Given the description of an element on the screen output the (x, y) to click on. 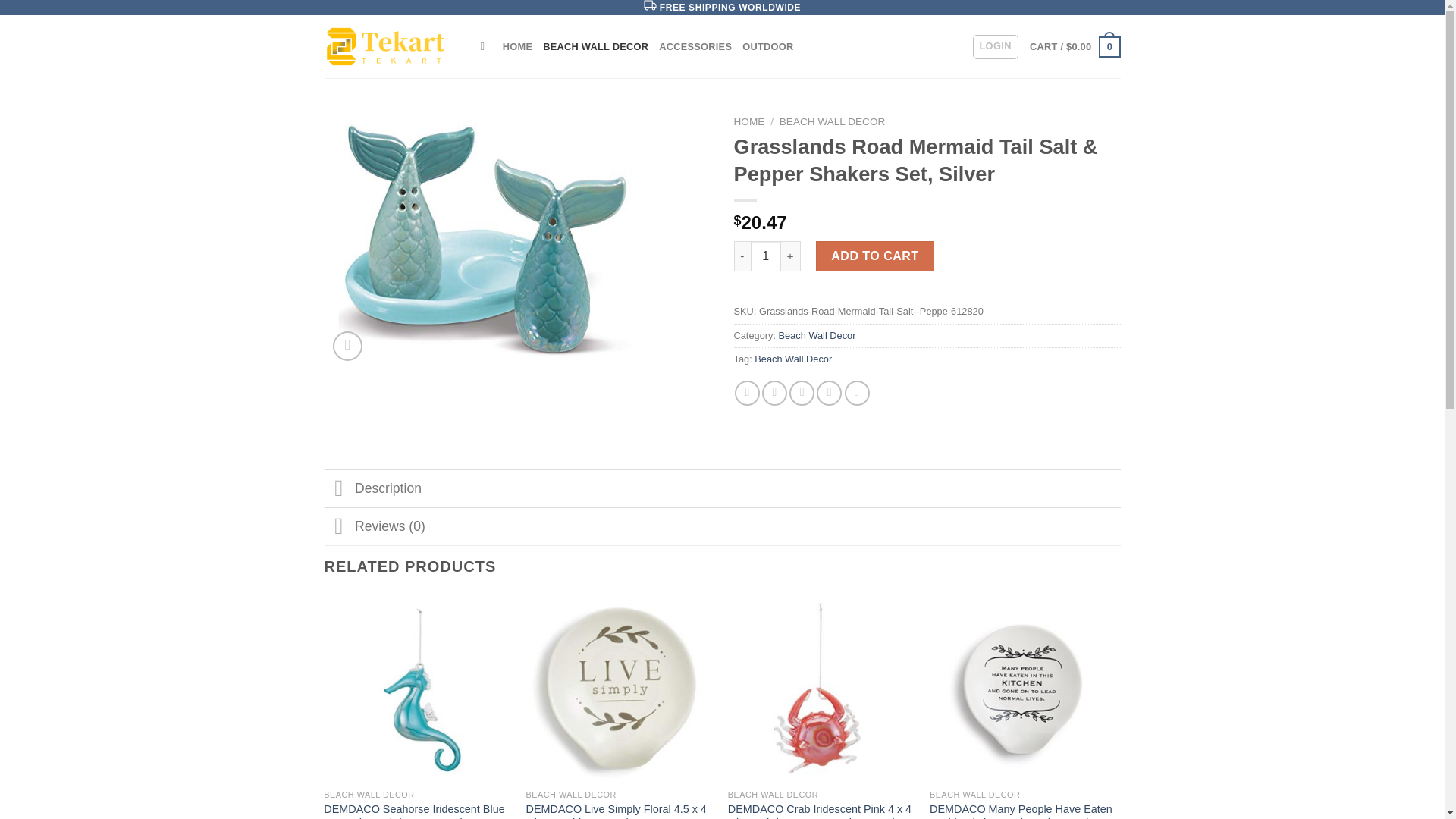
Zoom (347, 346)
Pin on Pinterest (828, 392)
LOGIN (994, 46)
Share on LinkedIn (856, 392)
HOME (517, 46)
BEACH WALL DECOR (831, 121)
BEACH WALL DECOR (595, 46)
Description (722, 487)
1 (765, 255)
ADD TO CART (874, 255)
HOME (749, 121)
BEDW120712.jpg (483, 238)
DISCOUNTEKART (391, 46)
Beach Wall Decor (792, 358)
ACCESSORIES (695, 46)
